Given the description of an element on the screen output the (x, y) to click on. 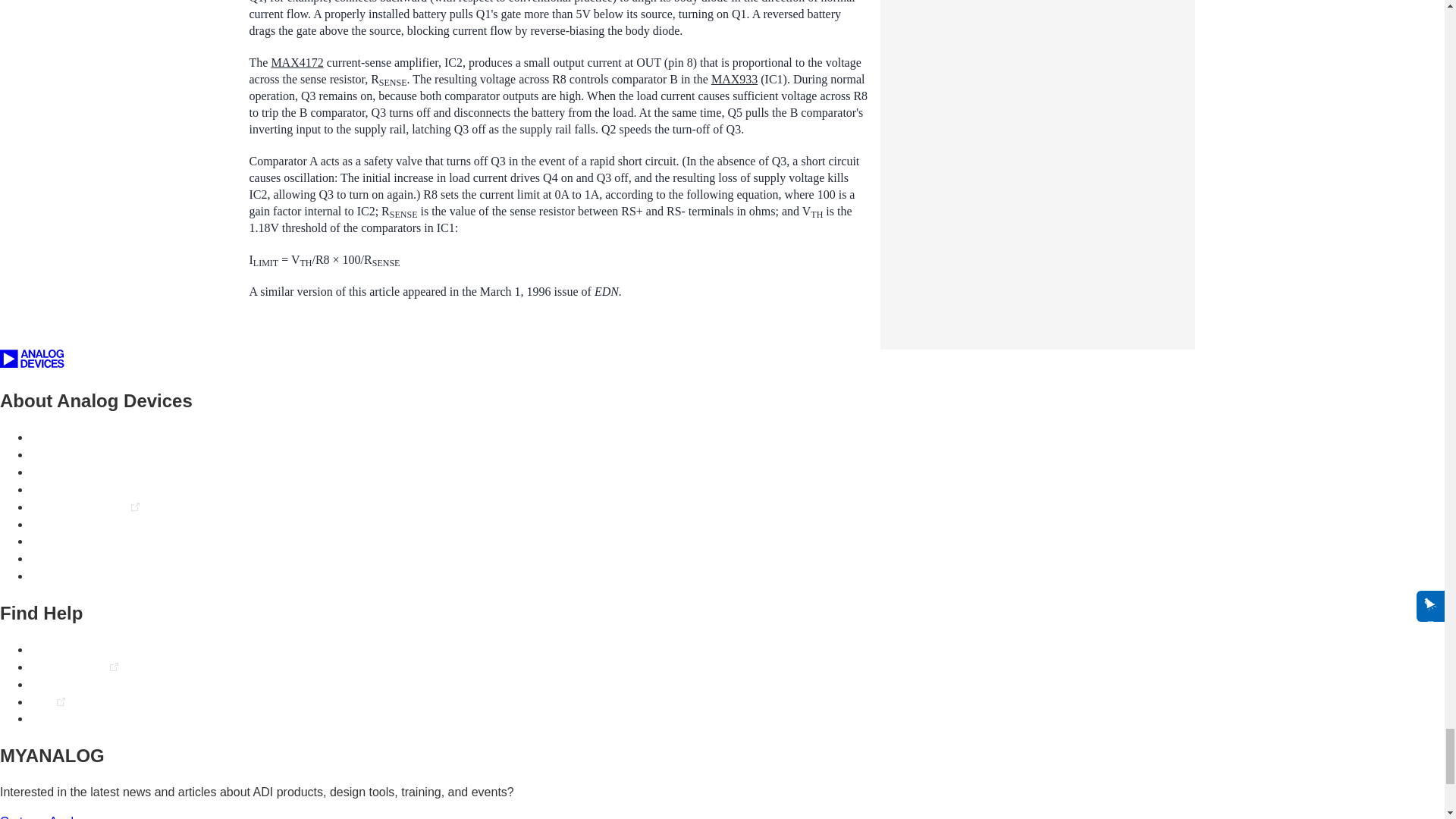
Support (51, 649)
Who We Are (64, 436)
Sales and Distribution (89, 540)
MAX933 (734, 78)
Wiki (41, 701)
Resources (58, 684)
What's New on Analog.com (103, 558)
Careers (52, 454)
EngineerZone (68, 666)
Investor Relations (79, 506)
